Given the description of an element on the screen output the (x, y) to click on. 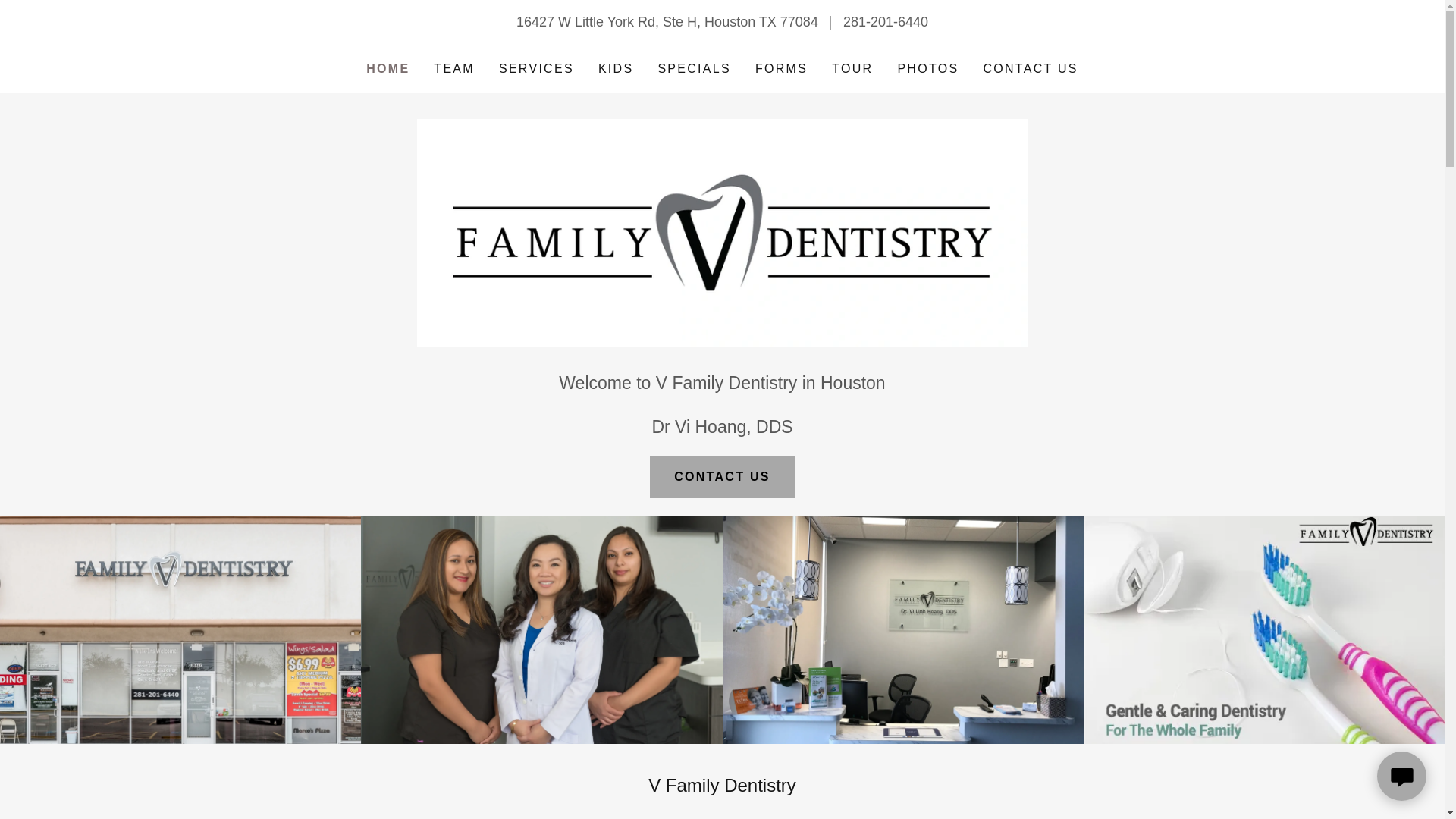
V Family Dentistry (721, 231)
FORMS (781, 68)
SPECIALS (693, 68)
TOUR (852, 68)
CONTACT US (1029, 68)
HOME (387, 68)
SERVICES (536, 68)
TEAM (454, 68)
CONTACT US (721, 476)
PHOTOS (927, 68)
